Given the description of an element on the screen output the (x, y) to click on. 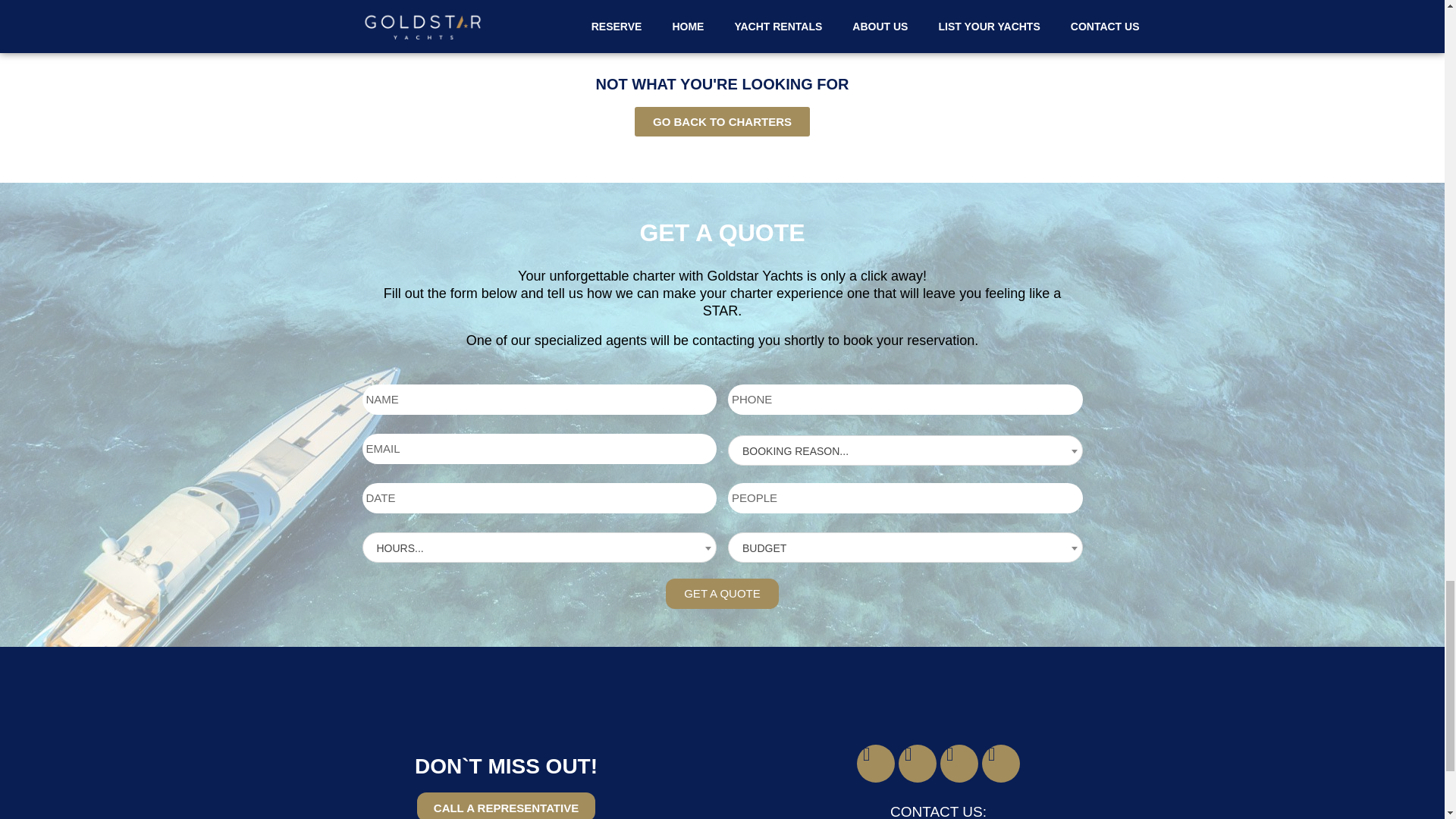
HOURS... (542, 548)
BUDGET (908, 548)
BOOKING REASON... (908, 450)
